Given the description of an element on the screen output the (x, y) to click on. 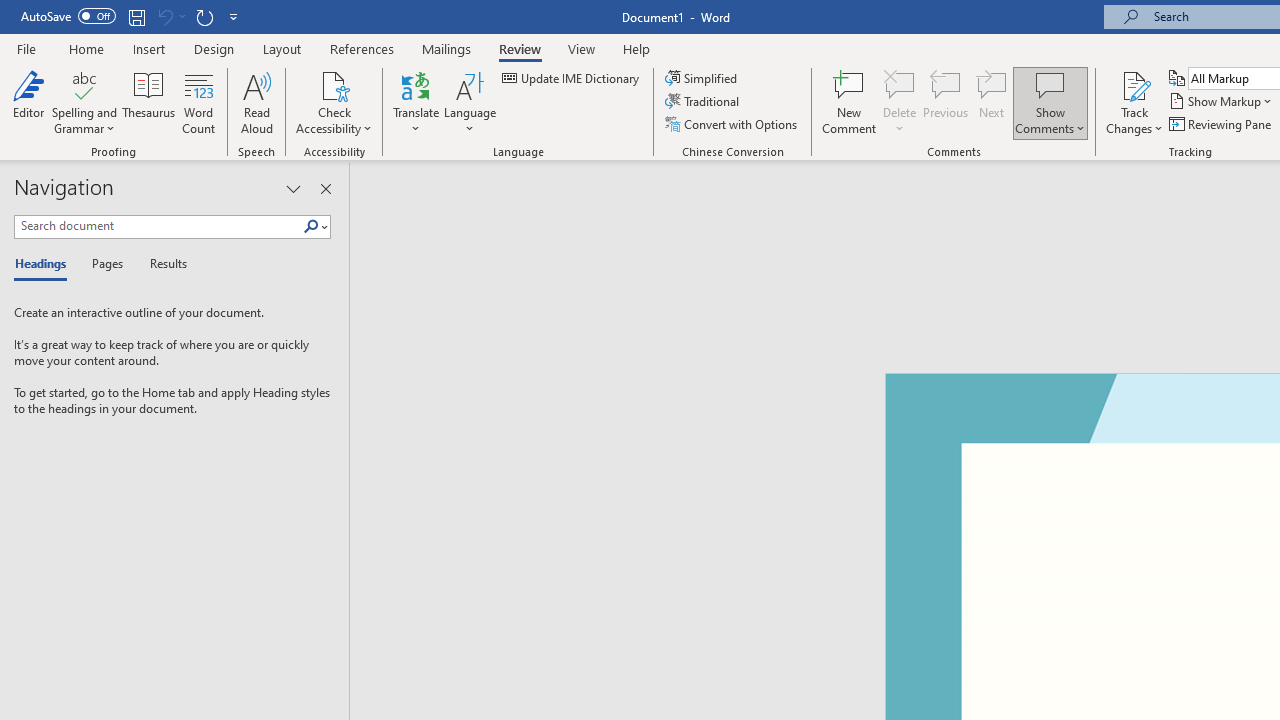
Reviewing Pane (1221, 124)
Spelling and Grammar (84, 84)
Spelling and Grammar (84, 102)
Delete (900, 102)
Thesaurus... (148, 102)
Convert with Options... (732, 124)
Headings (45, 264)
Track Changes (1134, 102)
Read Aloud (256, 102)
